Given the description of an element on the screen output the (x, y) to click on. 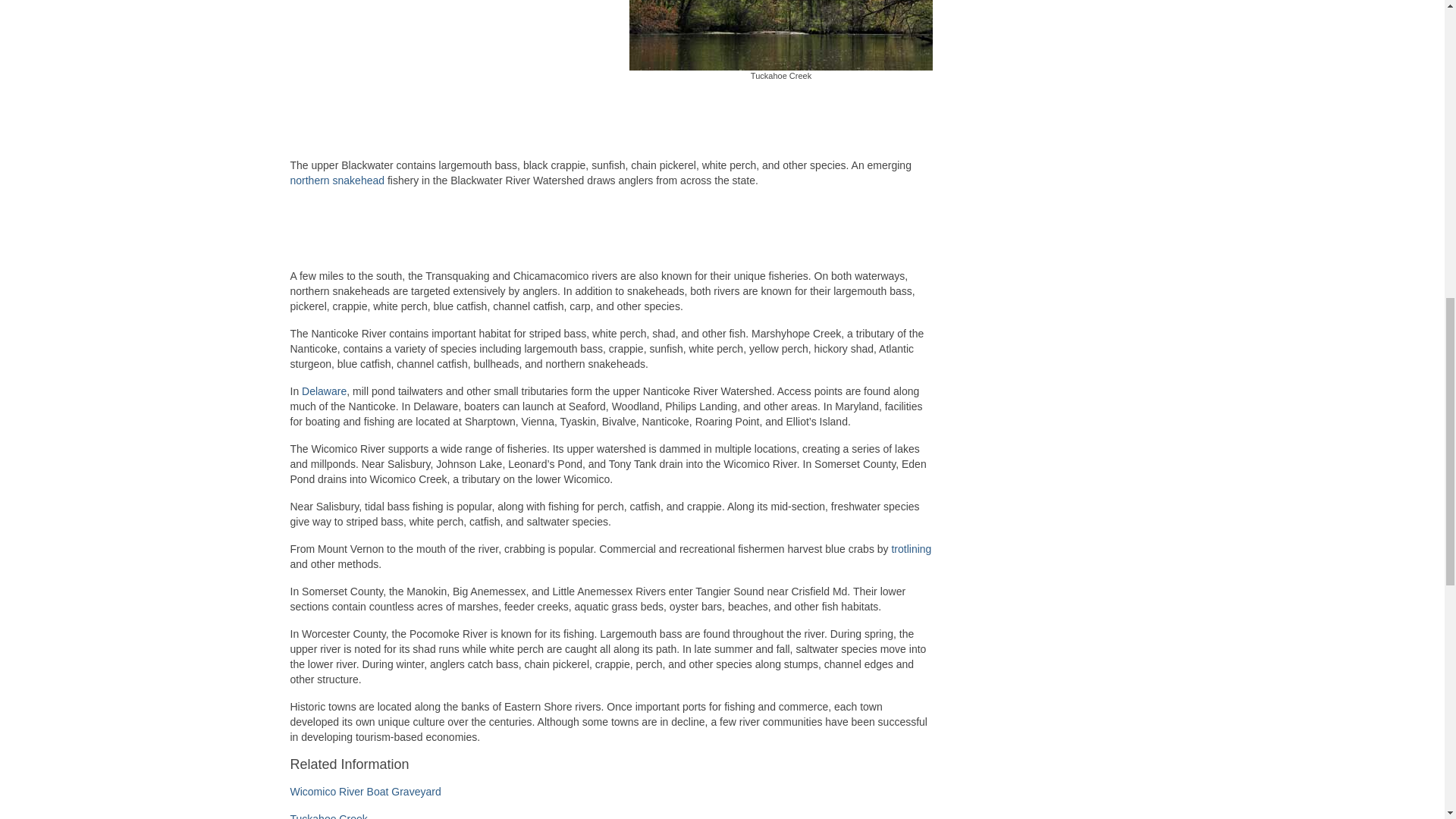
Advertisement (611, 234)
Advertisement (611, 124)
